Given the description of an element on the screen output the (x, y) to click on. 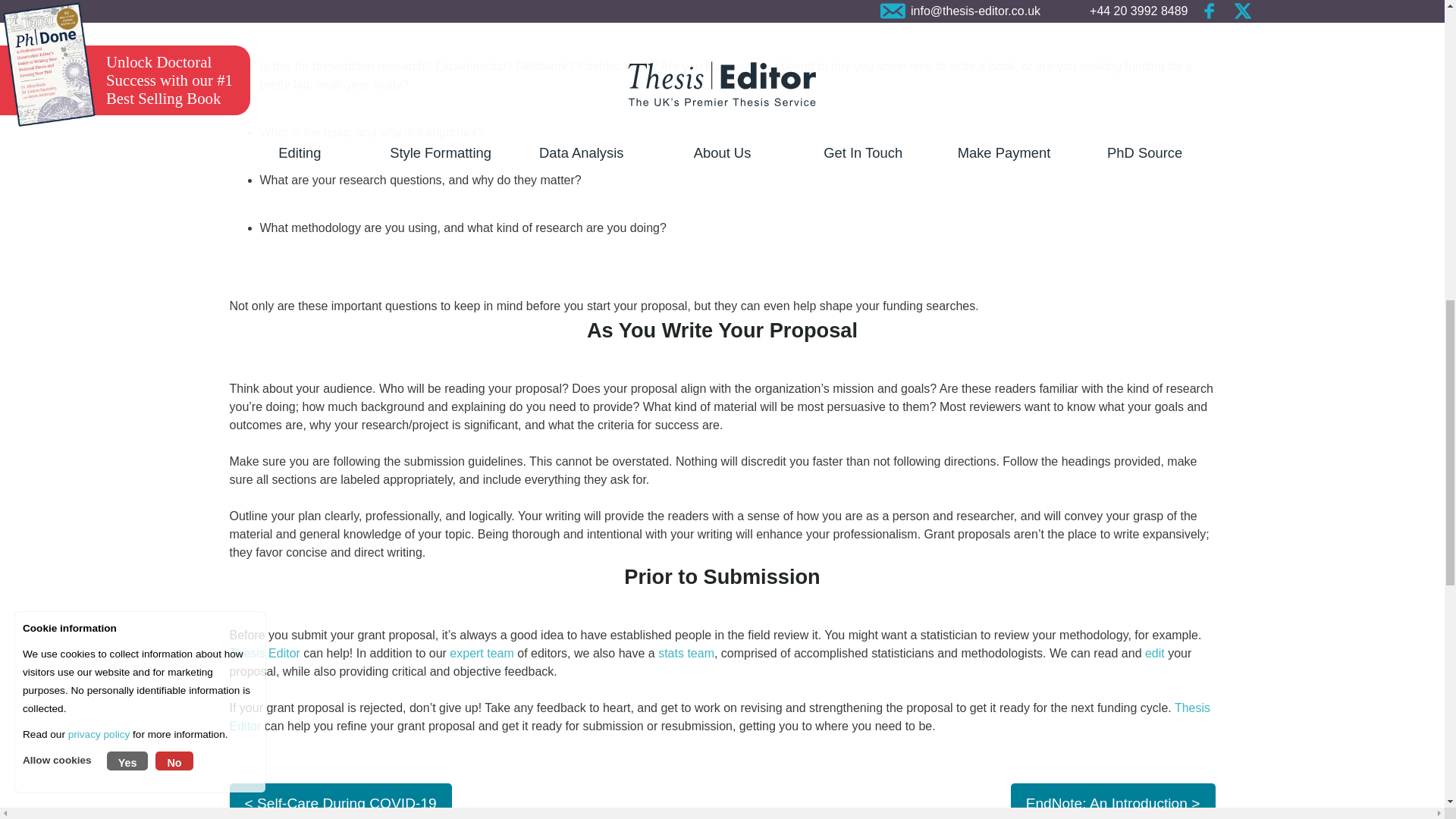
edit (1154, 653)
Thesis Editor (718, 716)
expert team (481, 653)
stats team (686, 653)
Thesis Editor (263, 653)
